Given the description of an element on the screen output the (x, y) to click on. 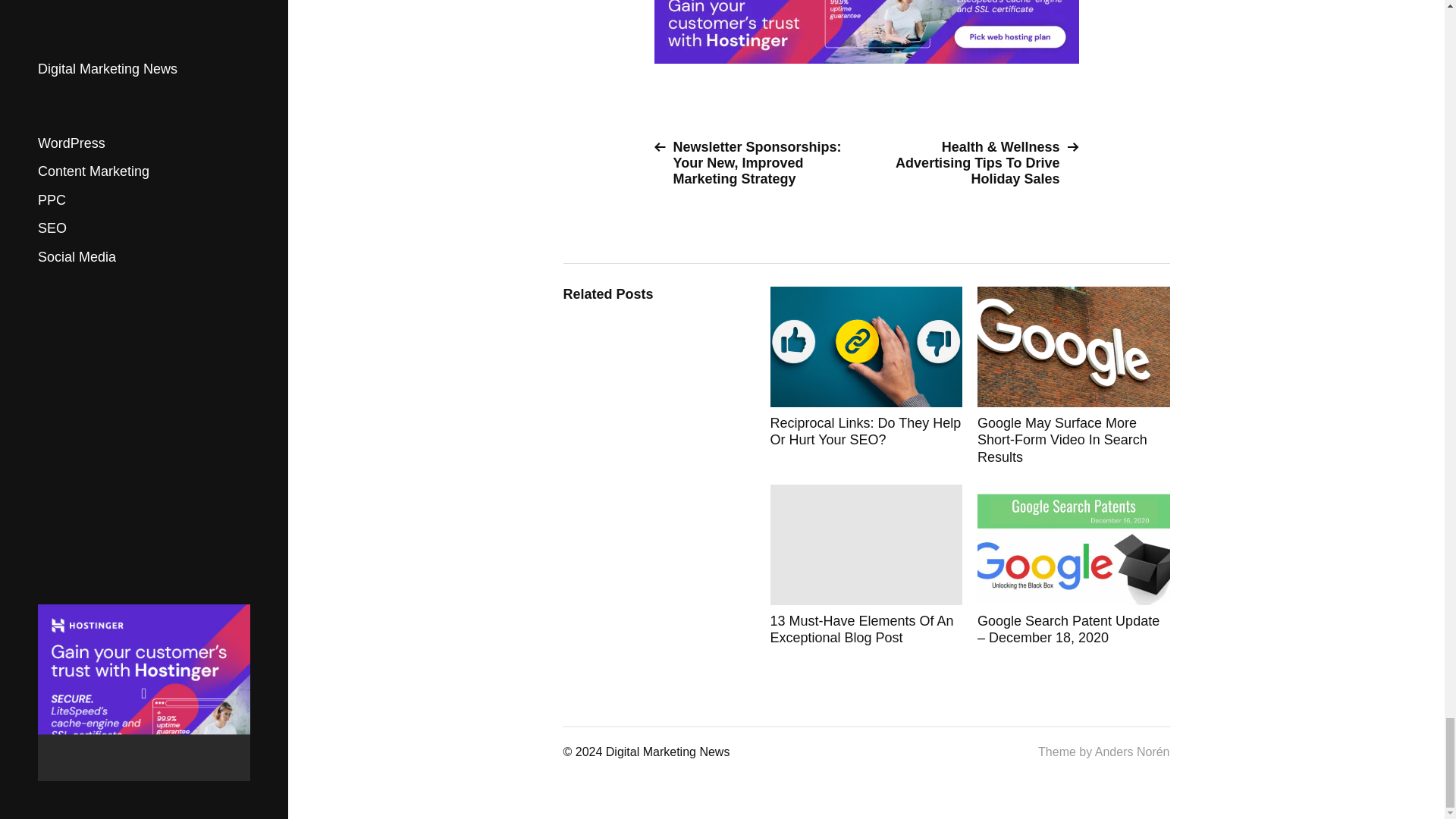
Digital Marketing News (667, 752)
Google May Surface More Short-Form Video In Search Results (1073, 376)
Reciprocal Links: Do They Help Or Hurt Your SEO? (866, 376)
13 Must-Have Elements Of An Exceptional Blog Post (866, 565)
